Given the description of an element on the screen output the (x, y) to click on. 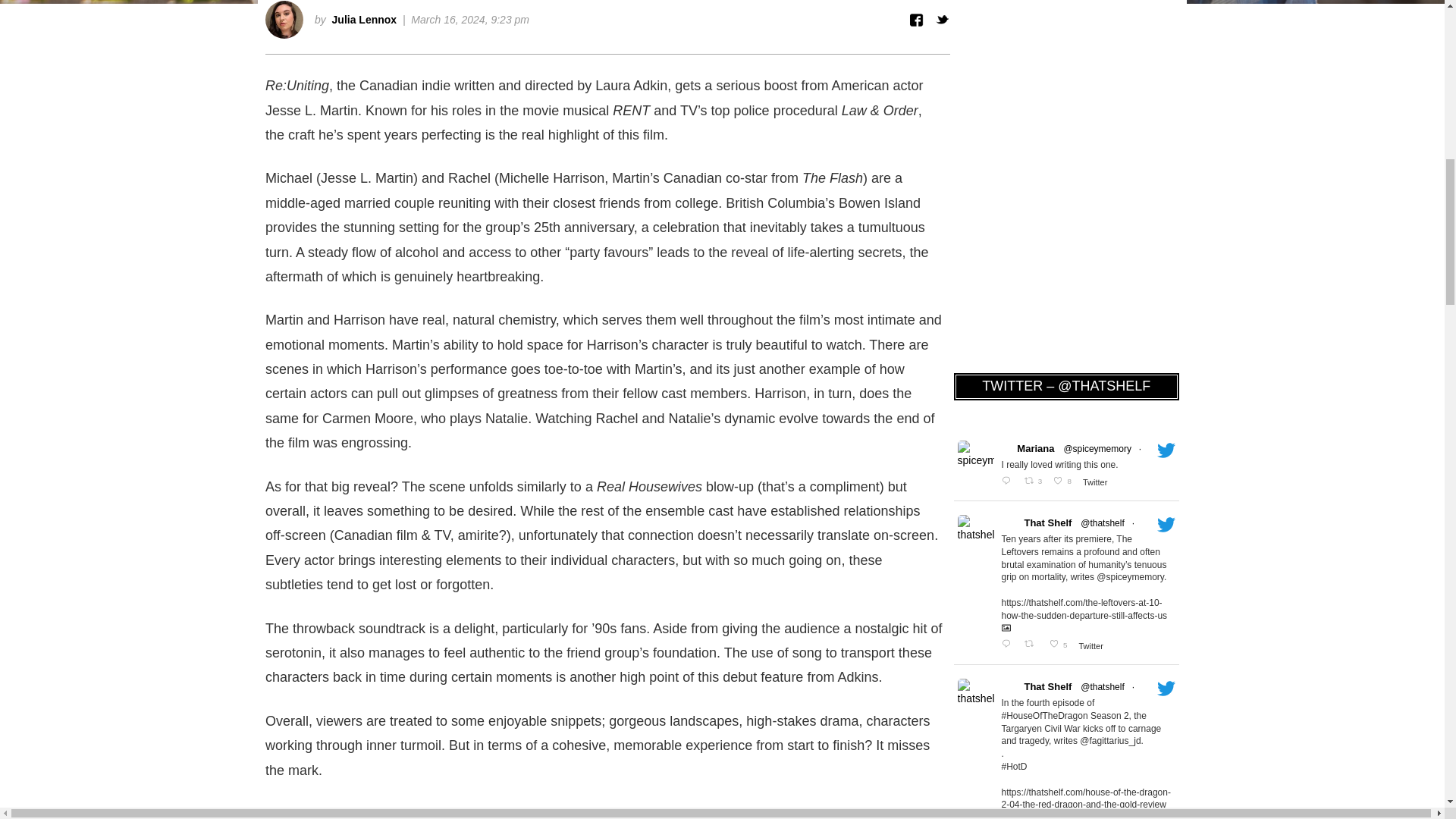
I really loved writing this one. (1087, 464)
Julia Lennox (364, 19)
That Shelf (1047, 522)
Mariana (1035, 448)
Reply on Twitter 1816489682756116862 (1063, 481)
Twitter 1816489682756116862 (1008, 481)
